Given the description of an element on the screen output the (x, y) to click on. 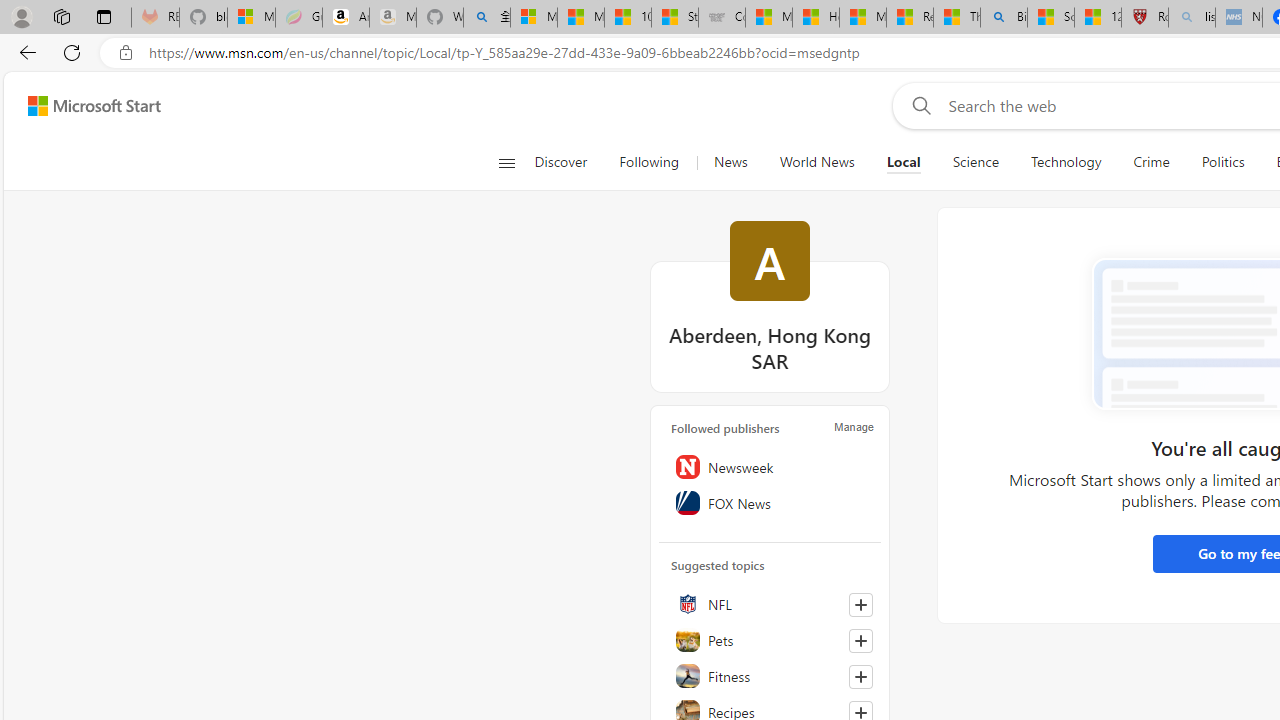
Fitness (770, 675)
Newsweek (770, 466)
Pets (770, 639)
